Given the description of an element on the screen output the (x, y) to click on. 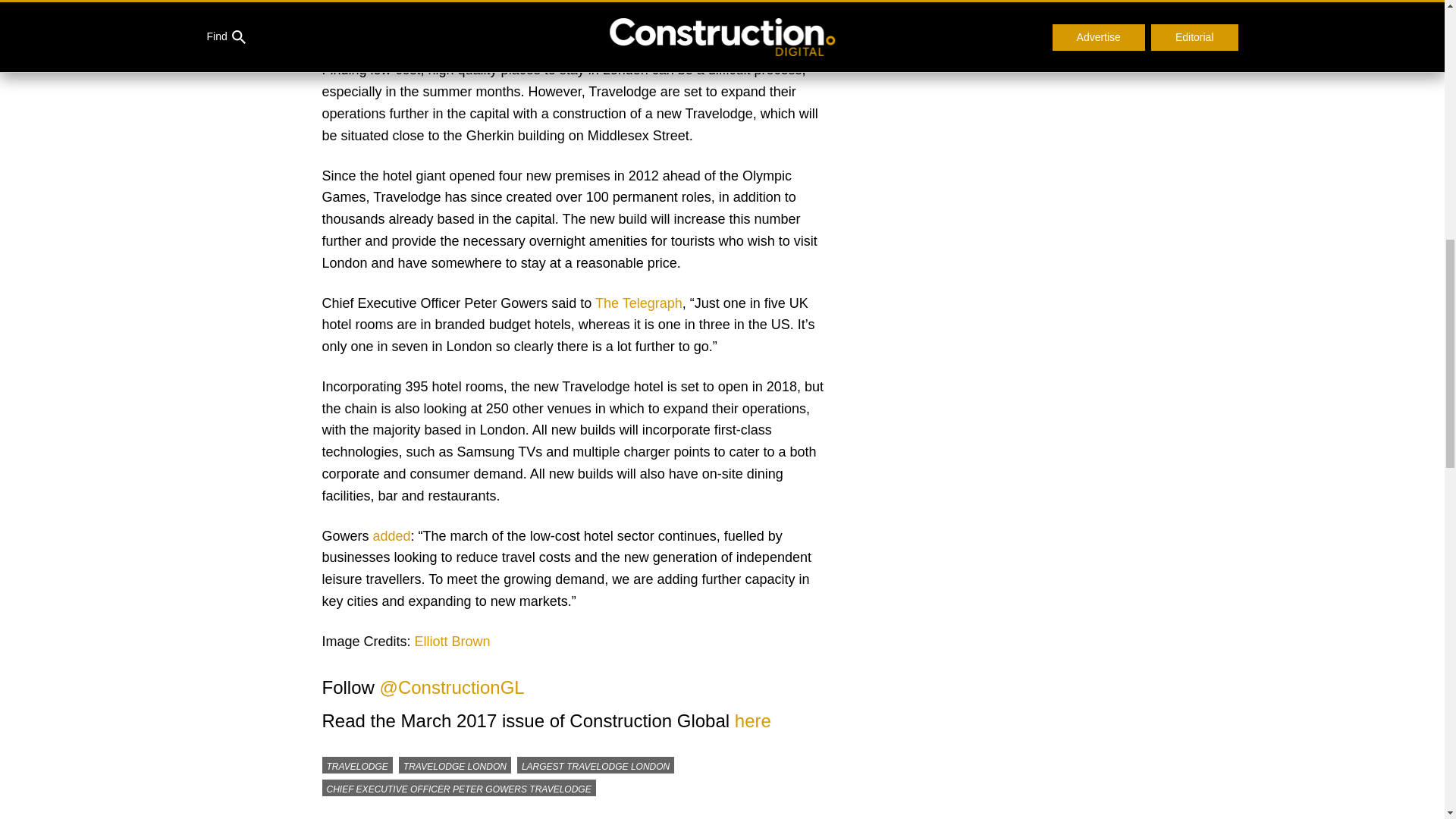
TRAVELODGE (356, 764)
added (391, 535)
Elliott Brown (452, 641)
LARGEST TRAVELODGE LONDON (595, 764)
here (753, 720)
CHIEF EXECUTIVE OFFICER PETER GOWERS TRAVELODGE (458, 787)
The Telegraph (638, 303)
TRAVELODGE LONDON (454, 764)
